Given the description of an element on the screen output the (x, y) to click on. 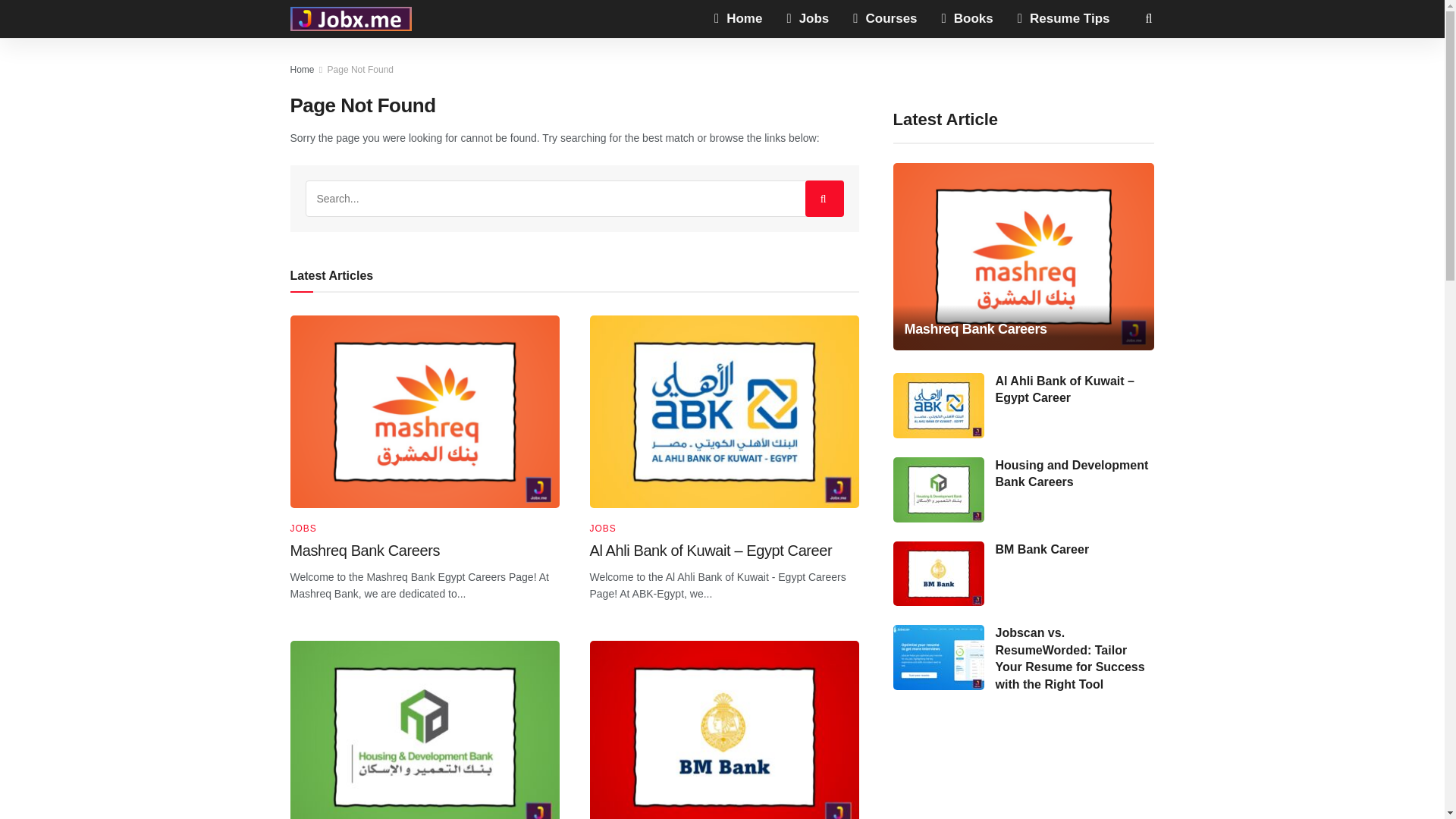
Home (301, 69)
Courses (884, 18)
Page Not Found (360, 69)
Mashreq Bank Careers (364, 550)
Books (968, 18)
Jobs (807, 18)
JOBS (602, 528)
Resume Tips (1064, 18)
JOBS (302, 528)
Home (737, 18)
